Given the description of an element on the screen output the (x, y) to click on. 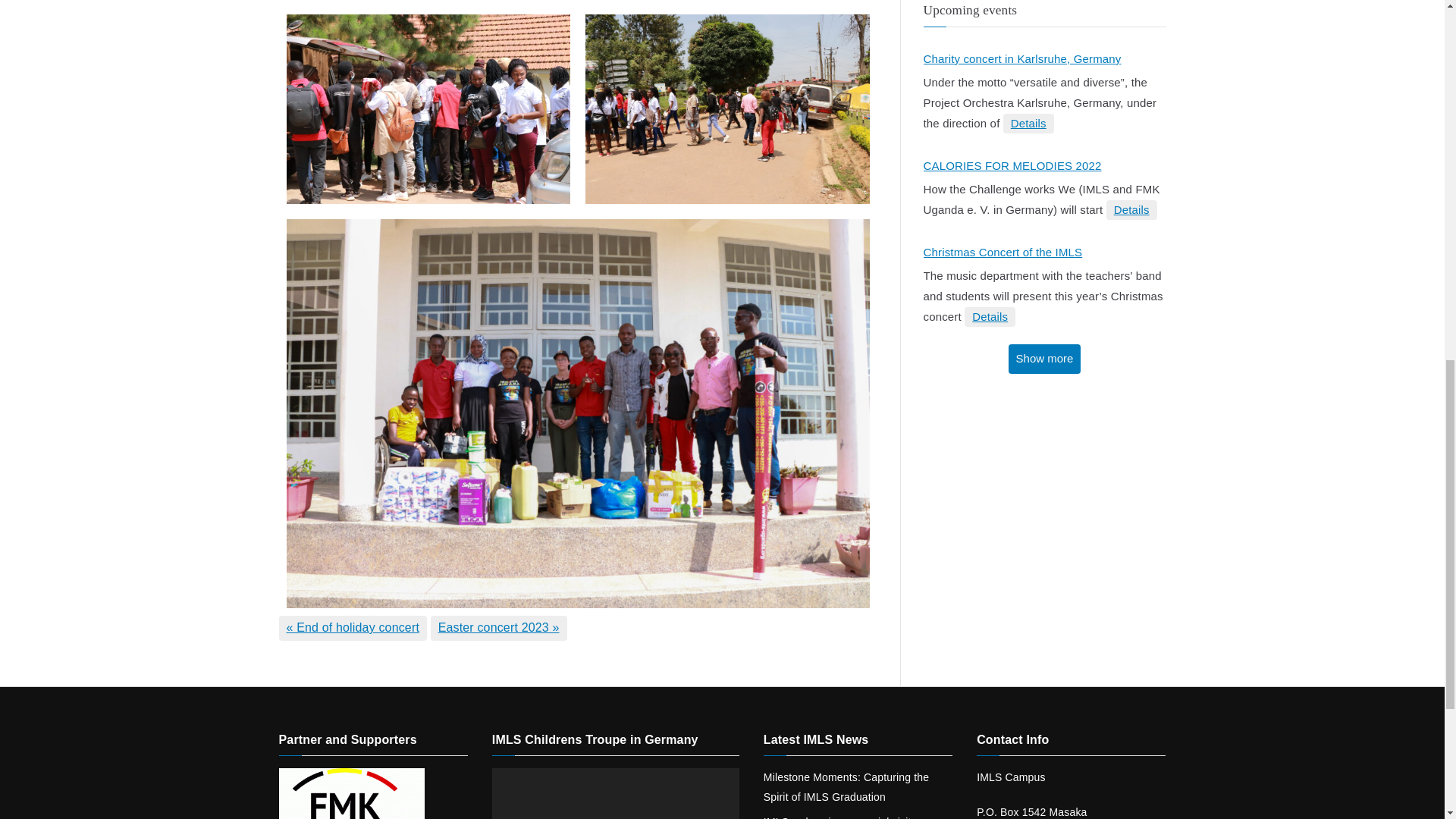
Continue reading CALORIES FOR MELODIES 2022 (1131, 209)
Continue reading Charity concert in Karlsruhe, Germany (1028, 123)
Continue reading Christmas Concert of the IMLS (988, 317)
